Given the description of an element on the screen output the (x, y) to click on. 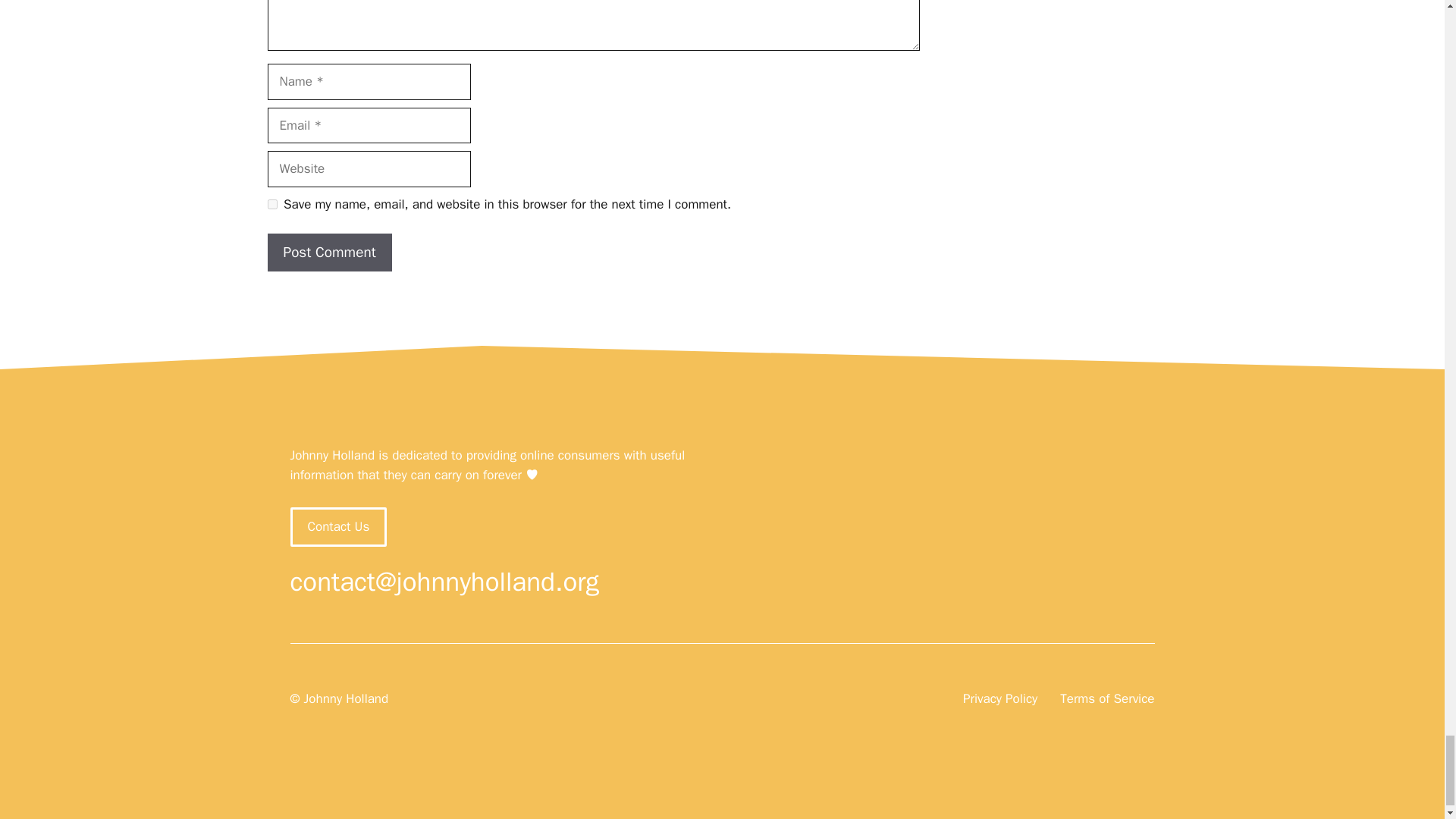
yes (271, 204)
Terms of Service (1106, 699)
Post Comment (328, 252)
Privacy Policy (999, 699)
Post Comment (328, 252)
Contact Us (338, 526)
